Given the description of an element on the screen output the (x, y) to click on. 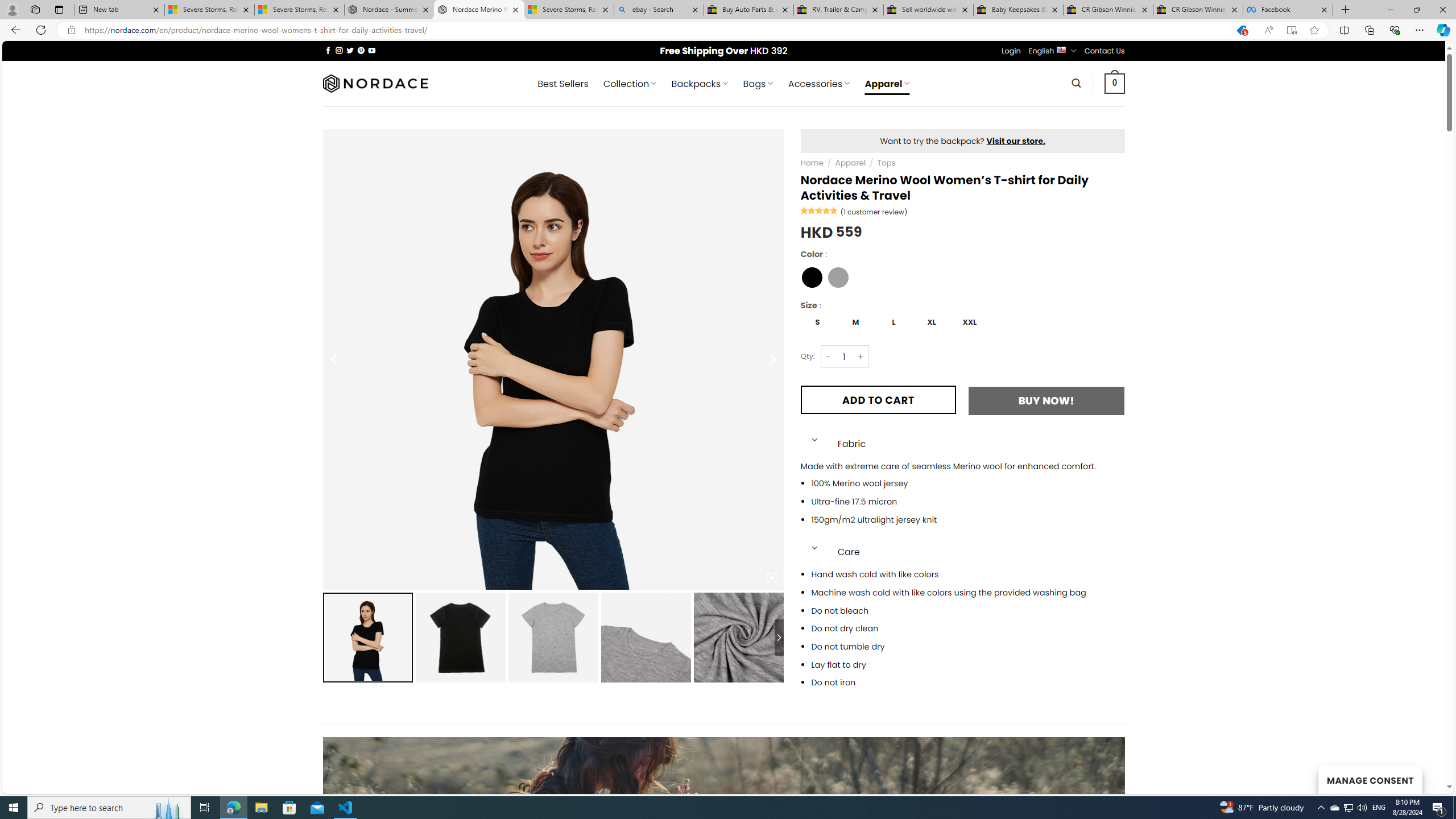
Tops (885, 162)
English (1061, 49)
BUY NOW! (1046, 400)
Enter Immersive Reader (F9) (1291, 29)
Do not tumble dry (967, 647)
